Given the description of an element on the screen output the (x, y) to click on. 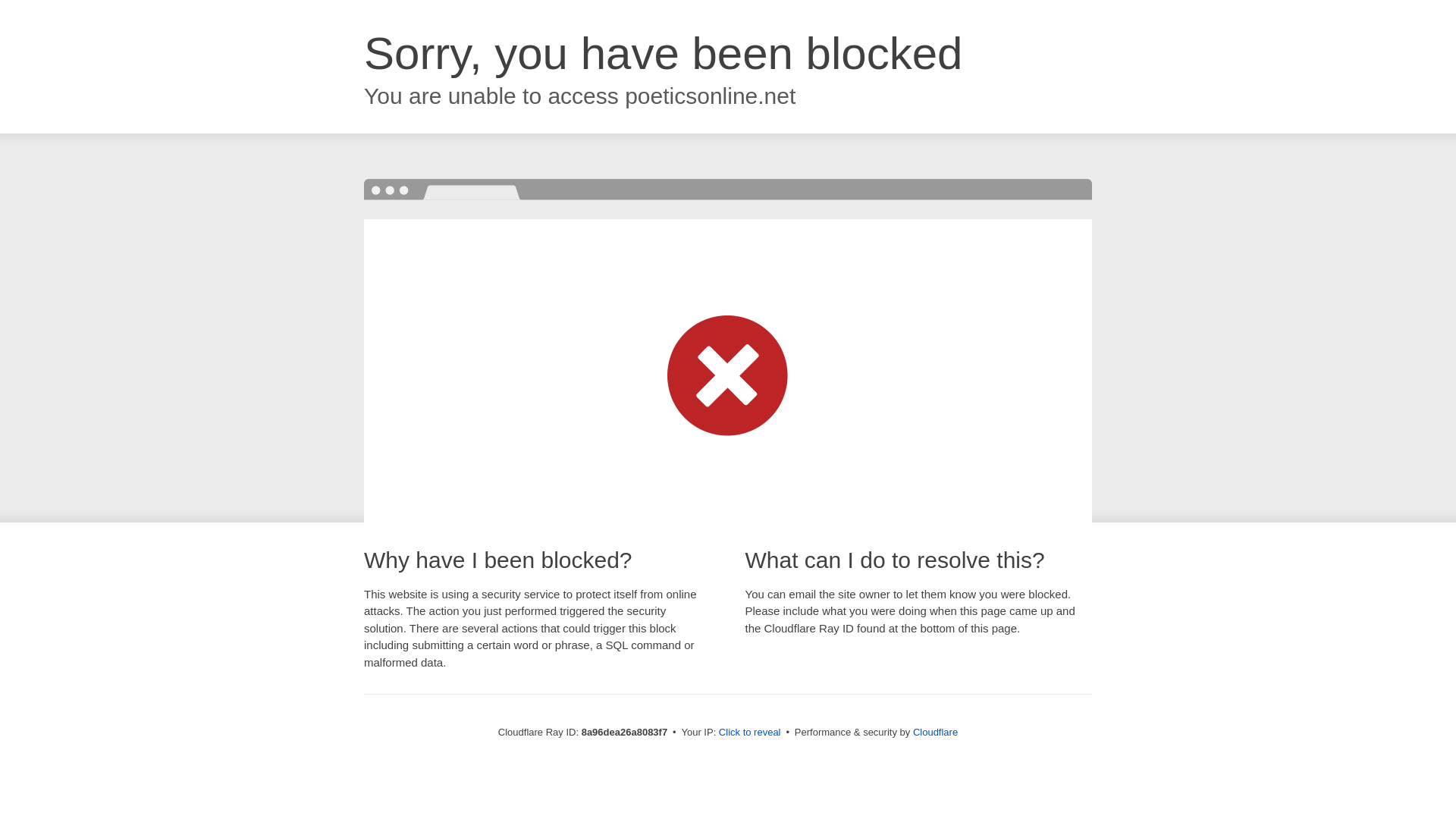
Click to reveal (749, 732)
Cloudflare (935, 731)
